Given the description of an element on the screen output the (x, y) to click on. 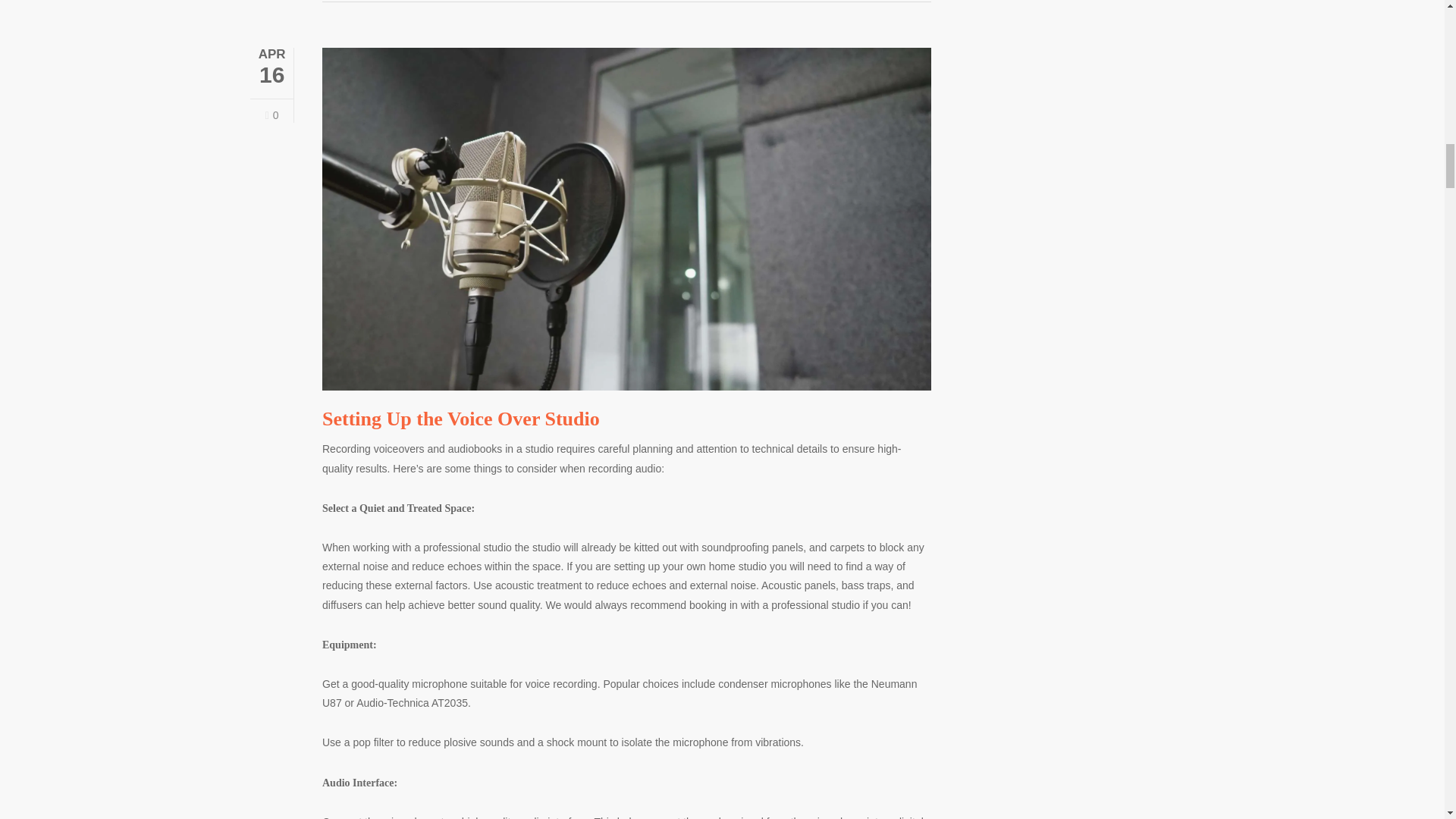
Love this (271, 115)
0 (271, 115)
Setting Up the Voice Over Studio (460, 418)
